Given the description of an element on the screen output the (x, y) to click on. 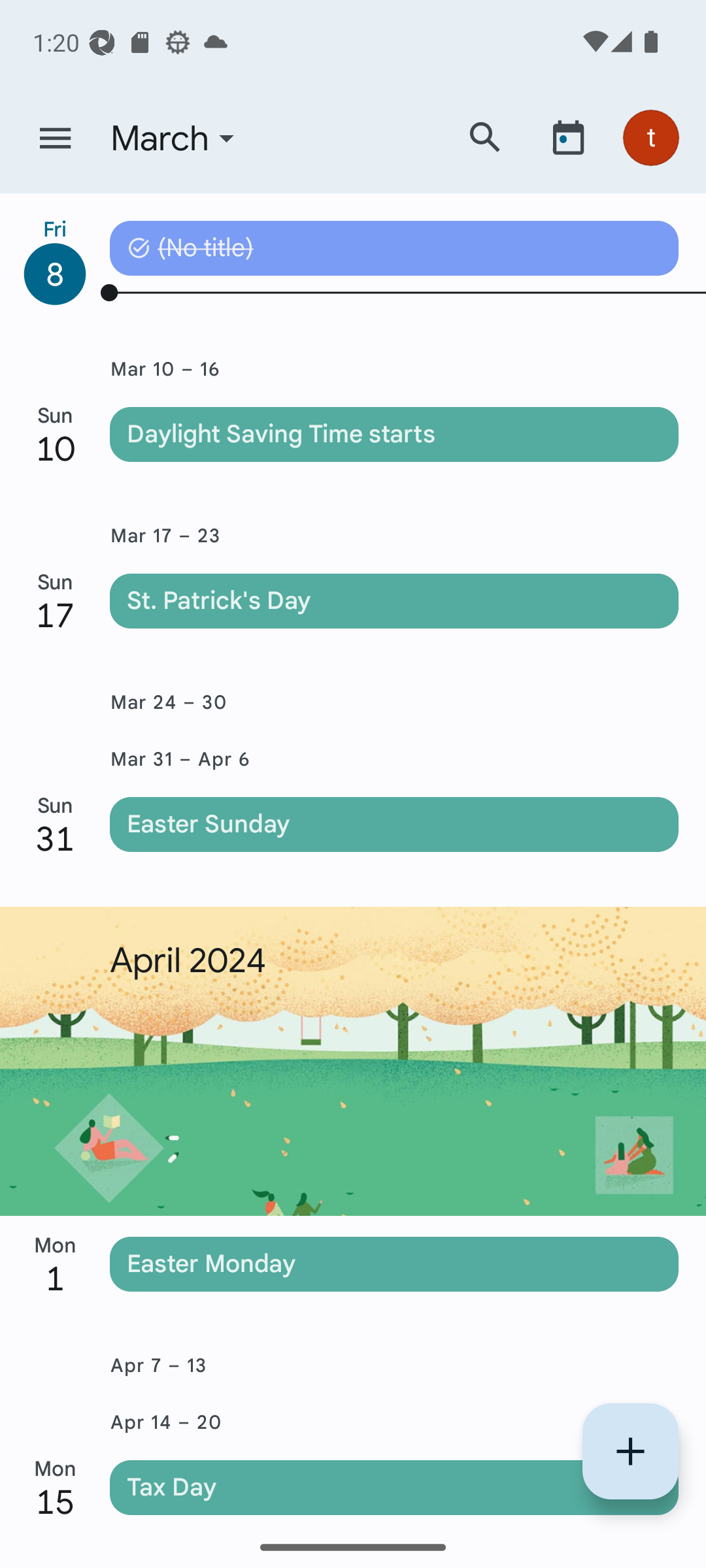
Show Calendar List and Settings drawer (55, 138)
March, Show date picker March (270, 138)
Search (485, 137)
Jump to Today (567, 137)
Create new event (630, 1451)
